Given the description of an element on the screen output the (x, y) to click on. 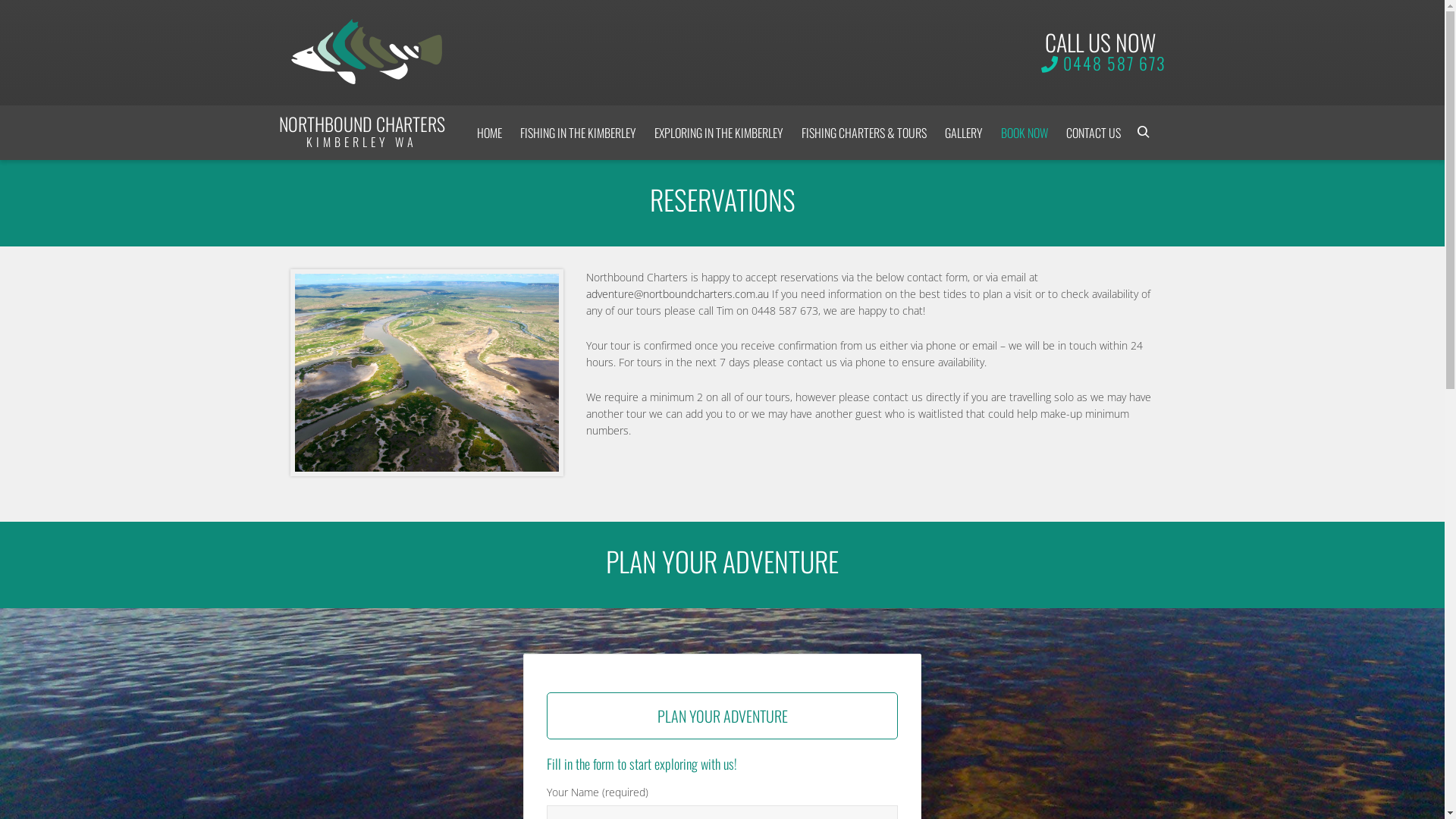
BOOK NOW Element type: text (1024, 133)
CONTACT US Element type: text (1093, 133)
adventure@nortboundcharters.com.au Element type: text (678, 293)
EXPLORING IN THE KIMBERLEY Element type: text (717, 133)
HOME Element type: text (488, 133)
GALLERY Element type: text (963, 133)
FISHING IN THE KIMBERLEY Element type: text (578, 133)
FISHING CHARTERS & TOURS Element type: text (862, 133)
0448 587 673 Element type: text (1114, 62)
